Given the description of an element on the screen output the (x, y) to click on. 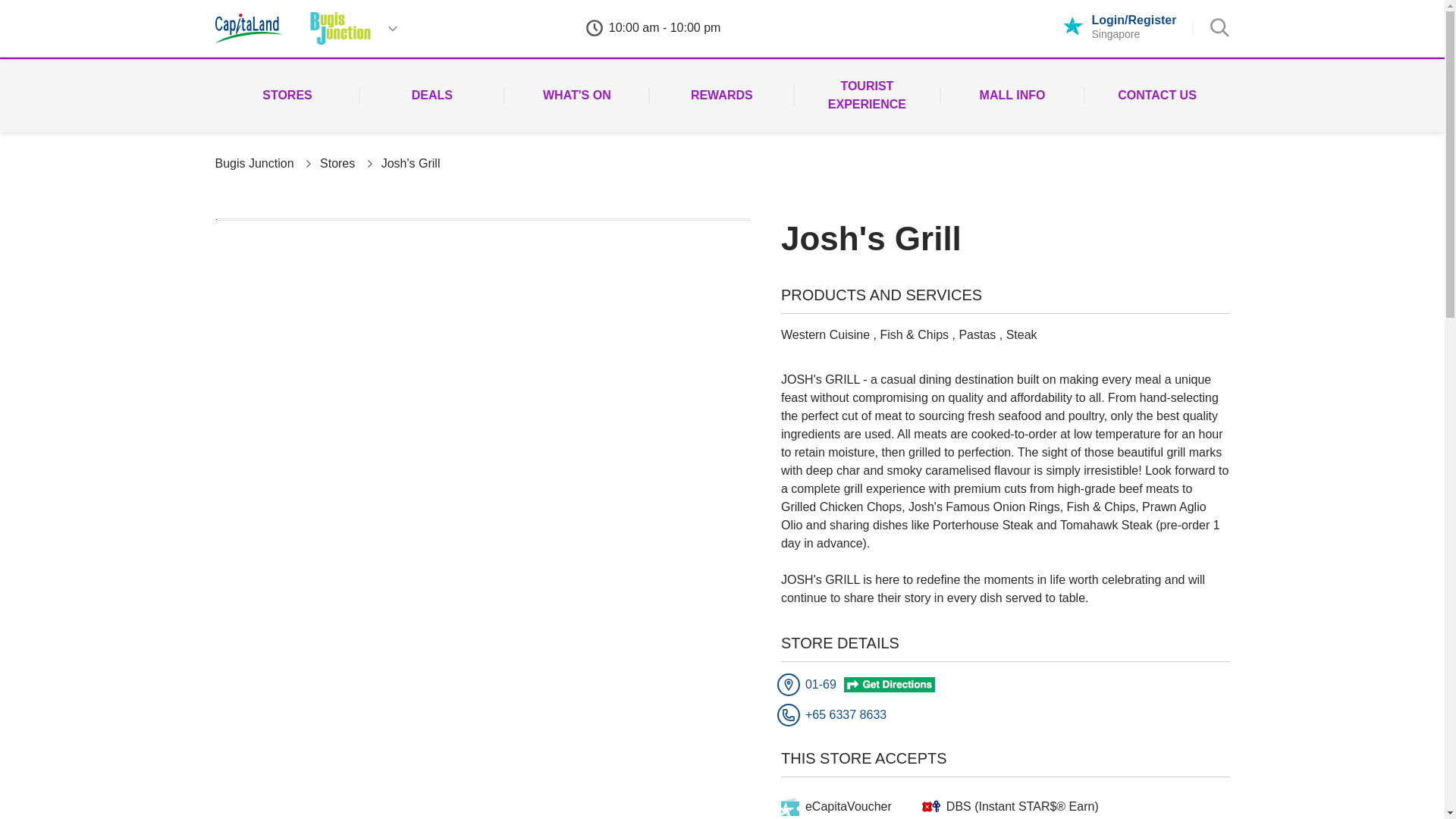
REWARDS (721, 94)
MALL INFO (1012, 94)
STORES (287, 94)
WHAT'S ON (576, 94)
TOURIST EXPERIENCE (866, 94)
Toggle search (1218, 27)
Stores (337, 163)
Bugis Junction (254, 163)
CONTACT US (1156, 94)
Selected Mall (339, 28)
